Given the description of an element on the screen output the (x, y) to click on. 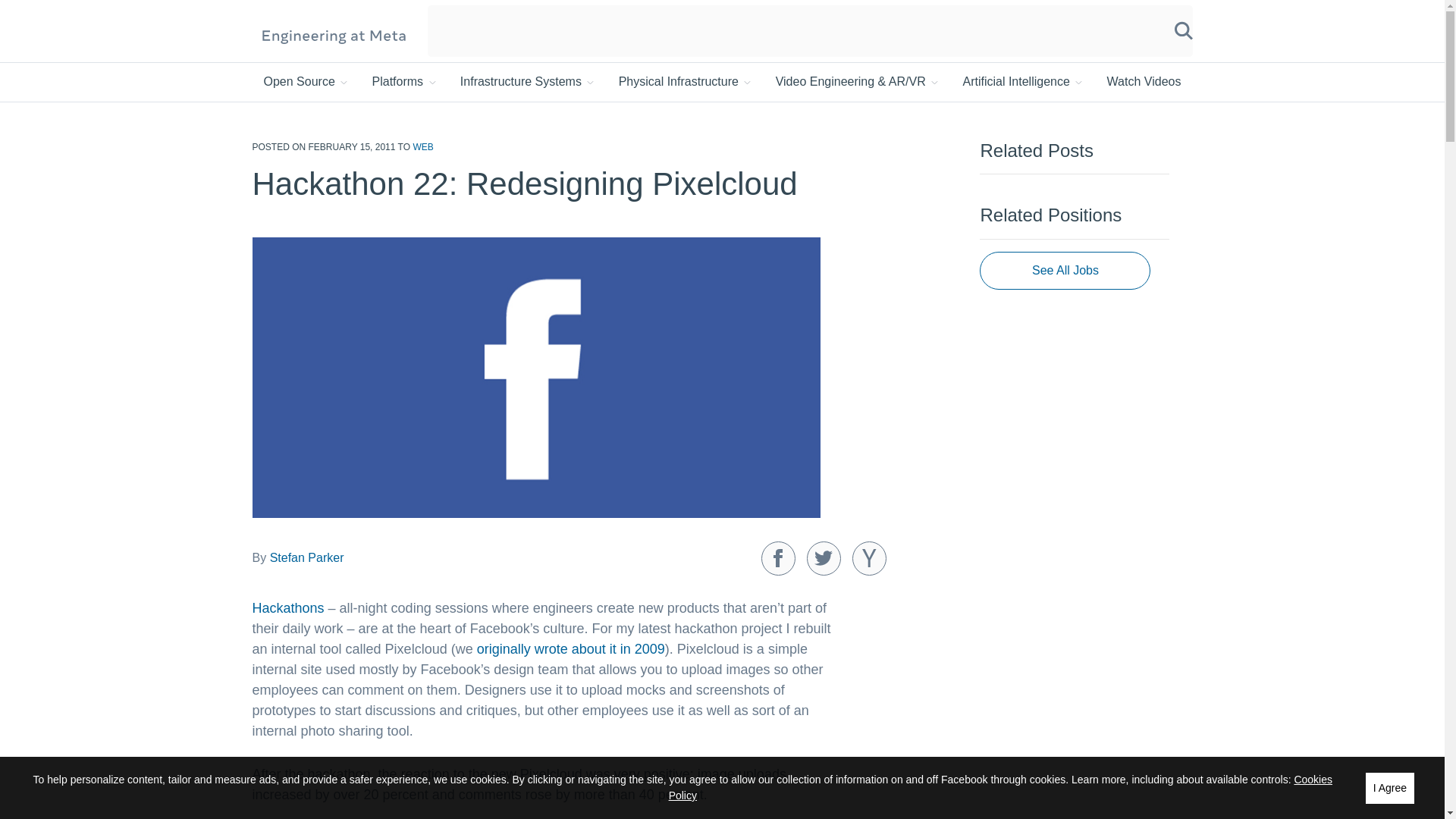
Open Source (306, 81)
Infrastructure Systems (528, 81)
Infrastructure Systems (528, 81)
Engineering at Meta (332, 35)
Hackathons (287, 607)
WEB (422, 145)
originally wrote about it in 2009 (571, 648)
Stefan Parker (306, 557)
Physical Infrastructure (686, 81)
Platforms (405, 81)
Platforms (405, 81)
Artificial Intelligence (1023, 81)
Watch Videos (1143, 81)
Open Source (306, 81)
